Given the description of an element on the screen output the (x, y) to click on. 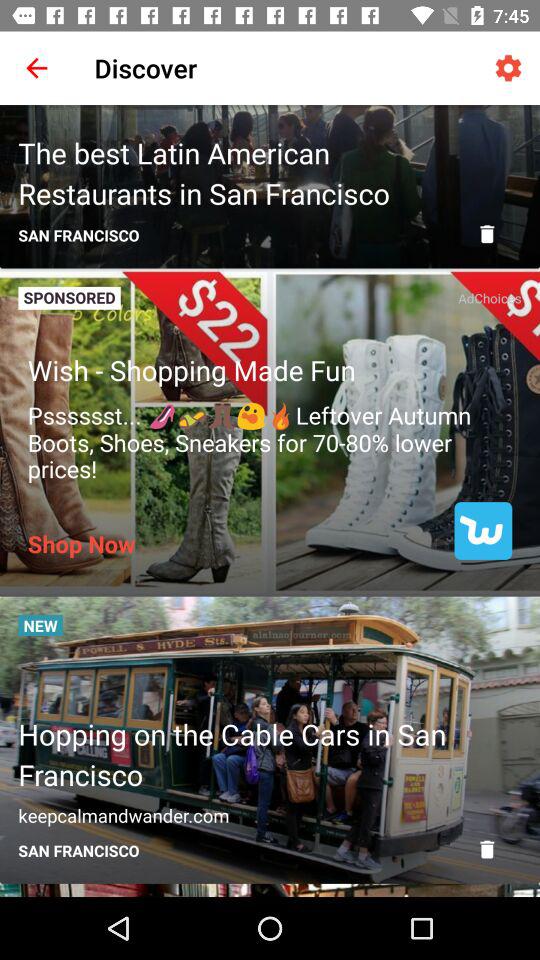
remove this from feed (487, 849)
